Given the description of an element on the screen output the (x, y) to click on. 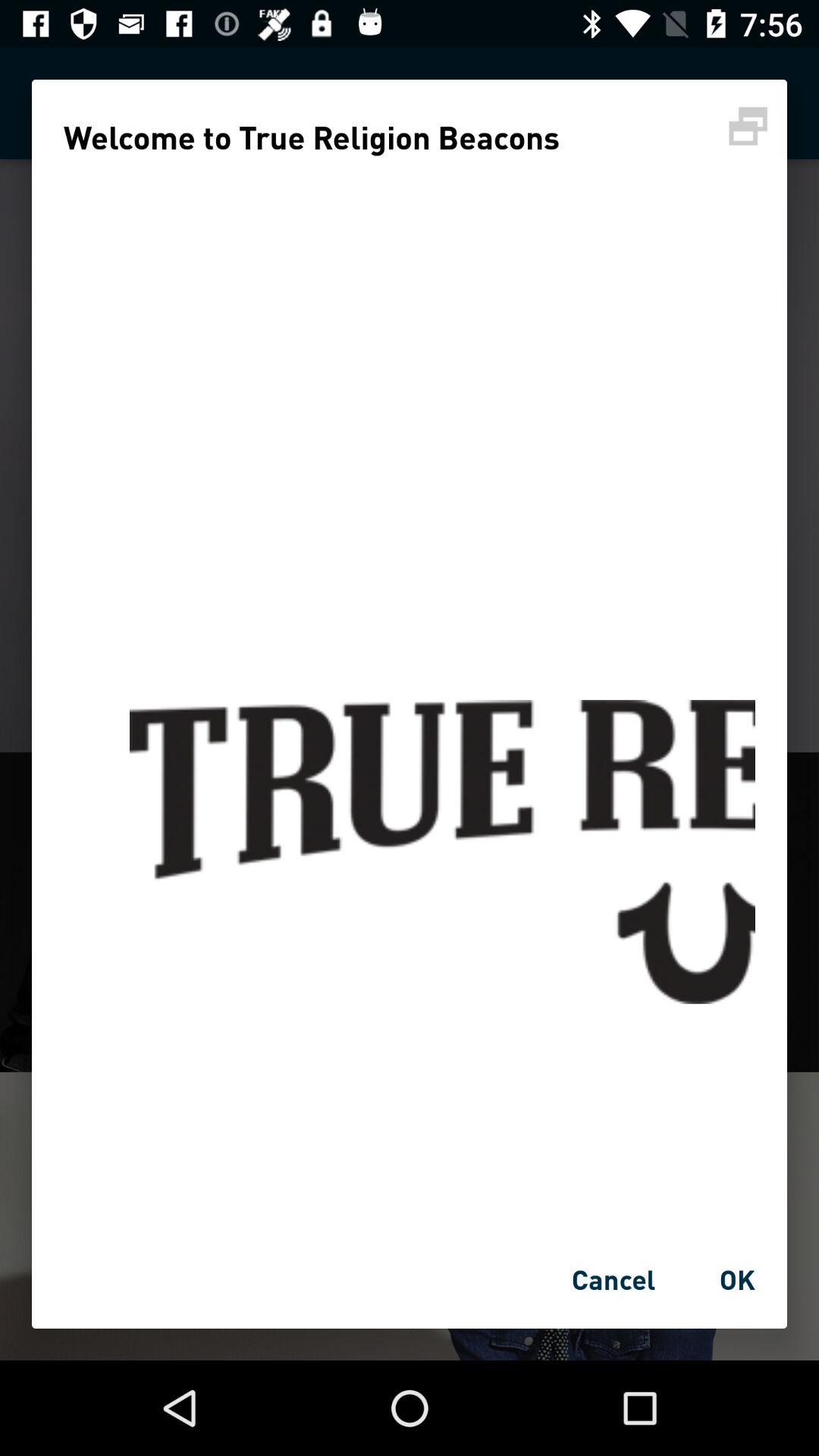
printer (747, 126)
